Given the description of an element on the screen output the (x, y) to click on. 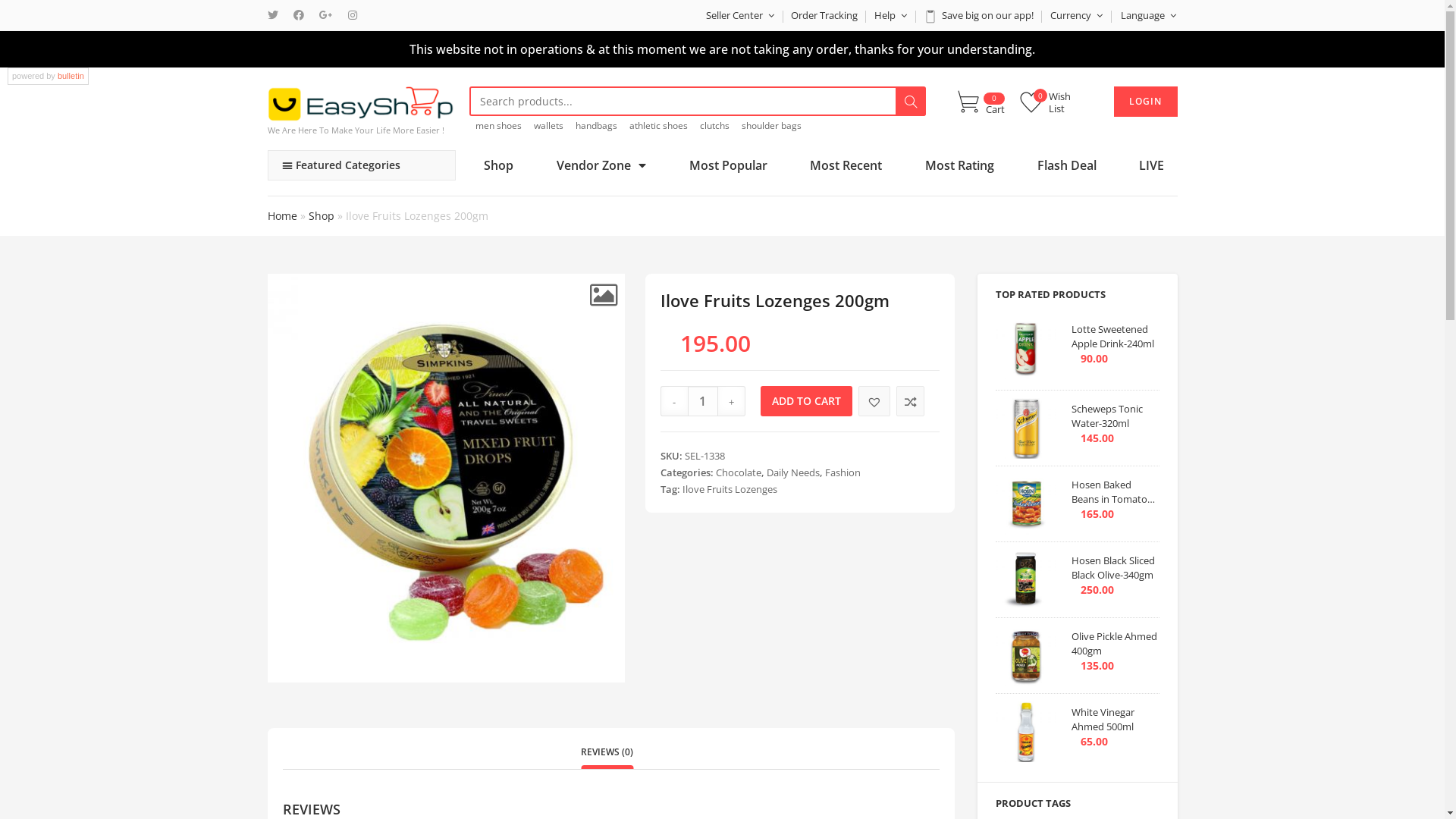
Help Element type: text (890, 15)
LIVE Element type: text (1151, 164)
Shop Element type: text (320, 215)
clutchs Element type: text (714, 125)
Currency Element type: text (1075, 15)
LOGIN Element type: text (1144, 101)
Hosen Baked Beans in Tomato Sauce-425gm Element type: text (1114, 498)
Shop Element type: text (498, 164)
Twitter Element type: hover (275, 15)
wallets Element type: text (548, 125)
Seller Center Element type: text (739, 15)
Hosen Black Sliced Black Olive-340gm Element type: text (1114, 574)
White Vinegar Ahmed 500ml Element type: text (1114, 726)
Athletic Shoes Element type: text (361, 193)
Wish List
0 Element type: text (1045, 106)
Fashion Element type: text (842, 472)
SEARCH Element type: text (910, 100)
Most Rating Element type: text (959, 164)
Home Element type: text (281, 215)
Flash Deal Element type: text (1066, 164)
Lotte Sweetened Apple Drink-240ml Element type: text (1114, 343)
Order Tracking Element type: text (823, 15)
Most Popular Element type: text (727, 164)
Language Element type: text (1143, 15)
men shoes Element type: text (498, 125)
ADD TO CART Element type: text (806, 400)
REVIEWS (0) Element type: text (606, 751)
+ Element type: text (731, 400)
SEL-1352.jpg Element type: hover (445, 477)
Ilove Fruits Lozenges Element type: text (729, 488)
Qty Element type: hover (702, 400)
Cart Element type: text (980, 103)
Olive Pickle Ahmed 400gm Element type: text (1114, 650)
Daily Needs Element type: text (792, 472)
Instagram Element type: hover (351, 15)
Chocolate Element type: text (738, 472)
shoulder bags Element type: text (771, 125)
Save big on our app! Element type: text (978, 15)
Facebook Element type: hover (297, 15)
bulletin Element type: text (70, 75)
- Element type: text (673, 400)
COMPARE Element type: text (910, 400)
Leather Shoes Element type: text (361, 193)
athletic shoes Element type: text (658, 125)
Google Plus Element type: hover (324, 15)
Most Recent Element type: text (846, 164)
handbags Element type: text (596, 125)
Vendor Zone Element type: text (601, 164)
Scheweps Tonic Water-320ml Element type: text (1114, 422)
